Given the description of an element on the screen output the (x, y) to click on. 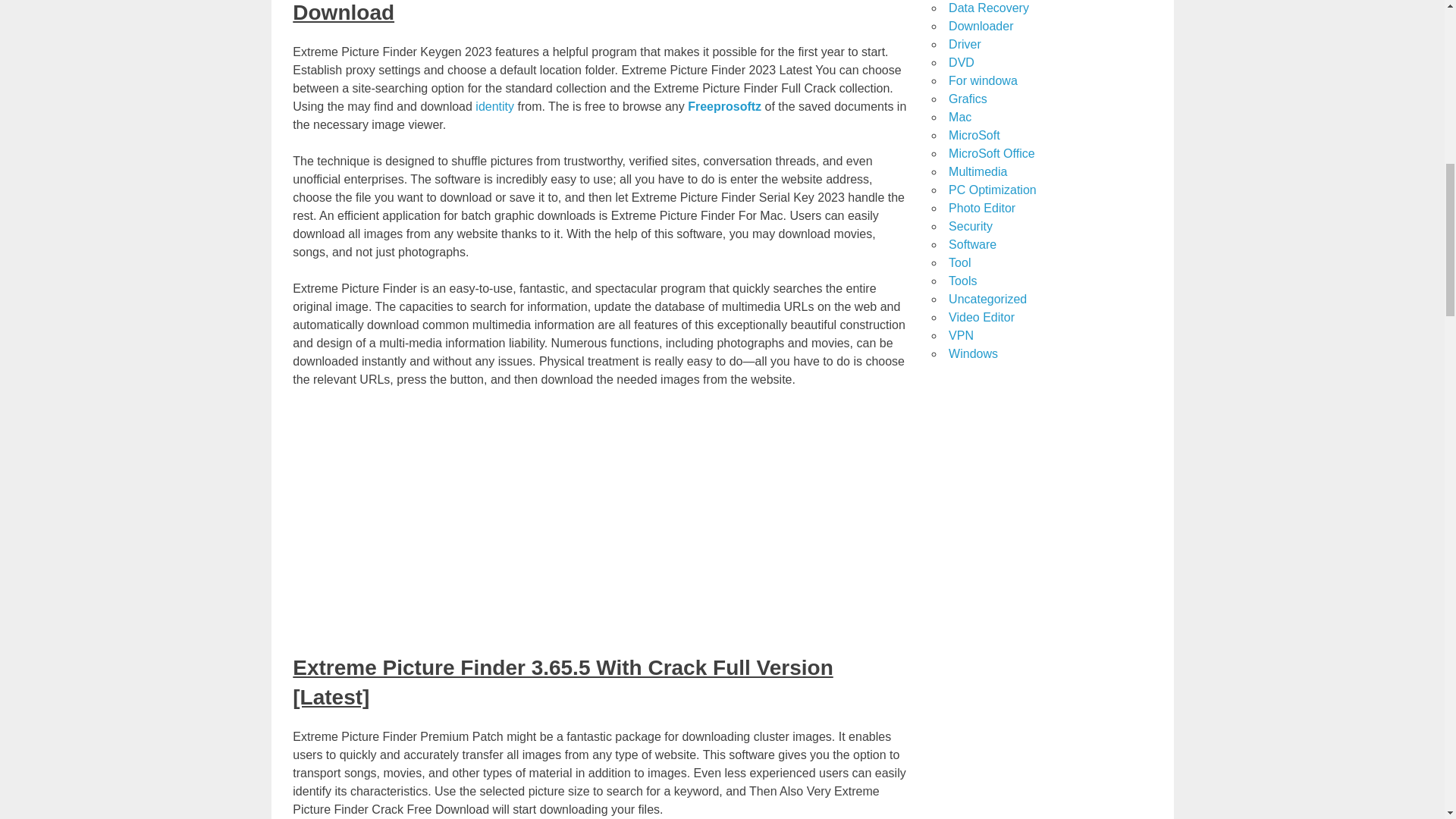
Data Recovery (989, 7)
Freeprosoftz (724, 106)
identity (496, 106)
